Given the description of an element on the screen output the (x, y) to click on. 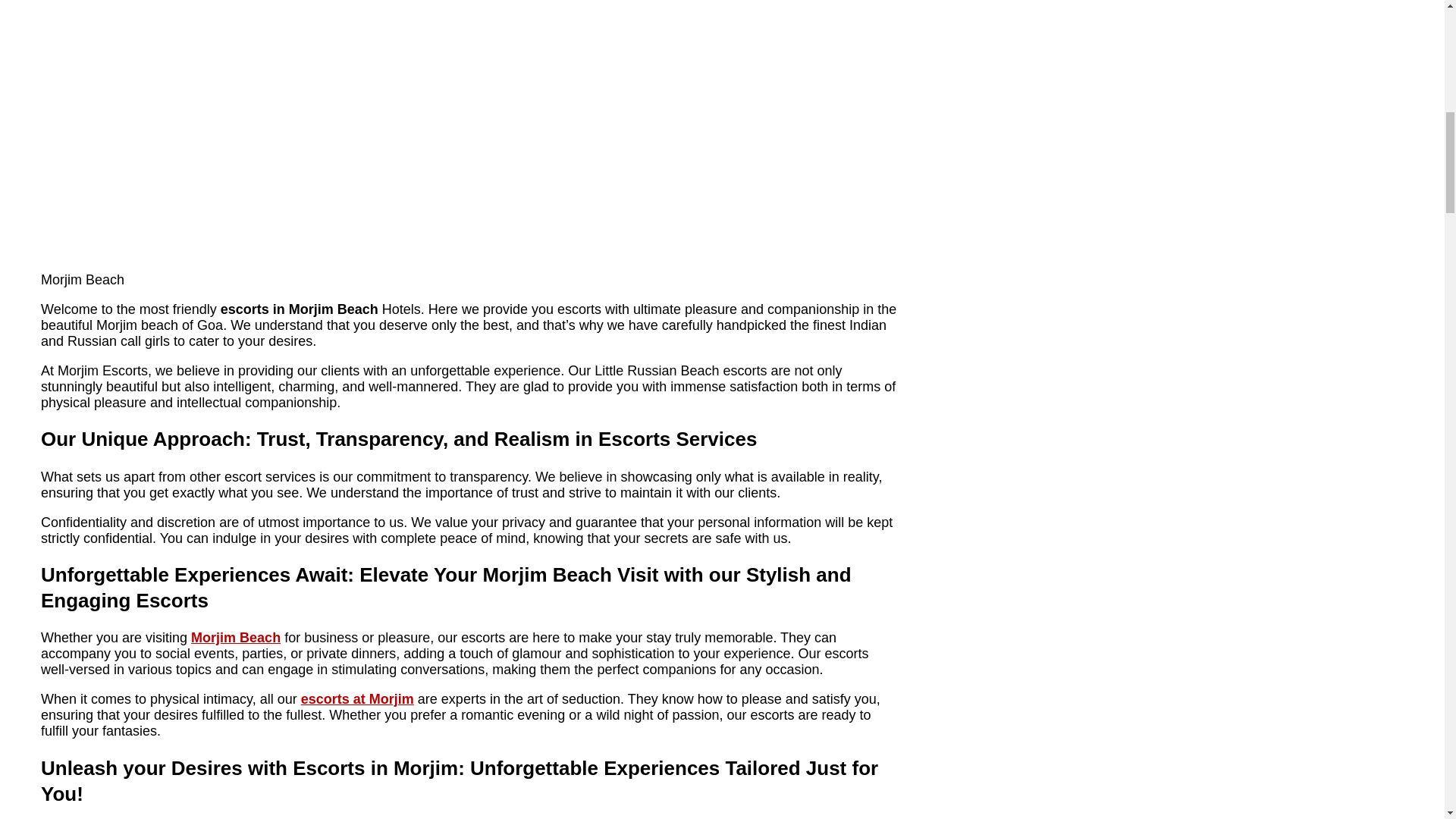
escorts at Morjim (357, 698)
Morjim Beach (235, 637)
